Given the description of an element on the screen output the (x, y) to click on. 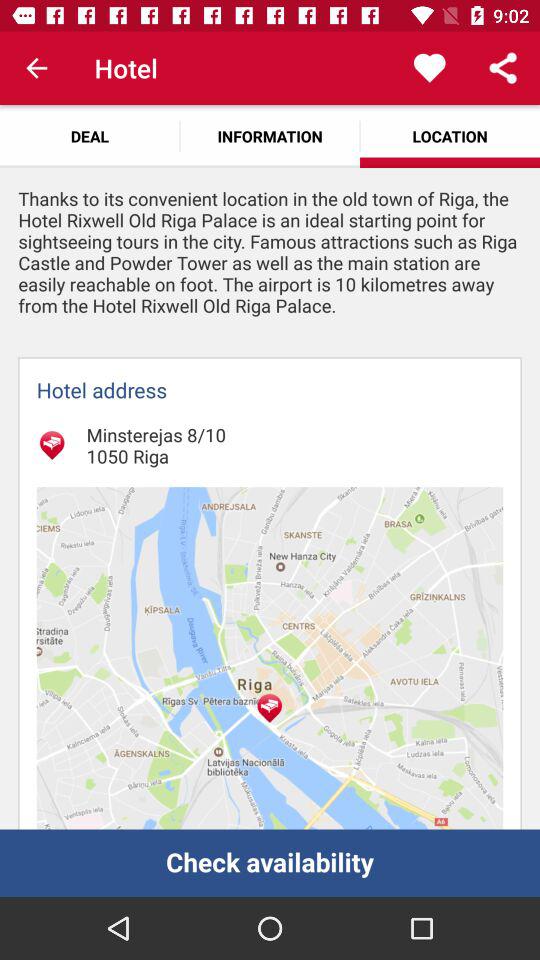
turn off icon to the right of the deal app (270, 136)
